Given the description of an element on the screen output the (x, y) to click on. 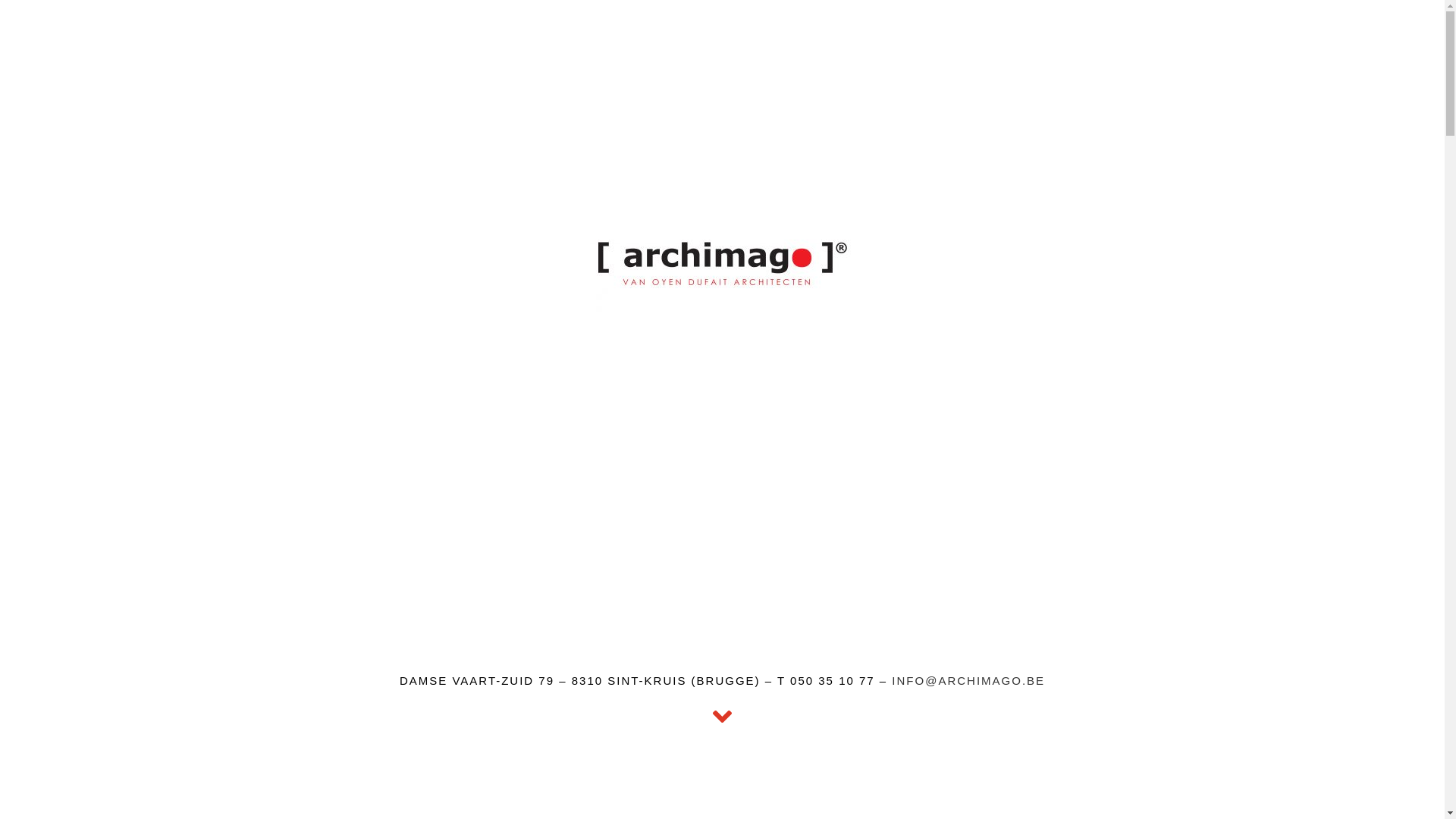
INFO@ARCHIMAGO.BE Element type: text (967, 680)
